Given the description of an element on the screen output the (x, y) to click on. 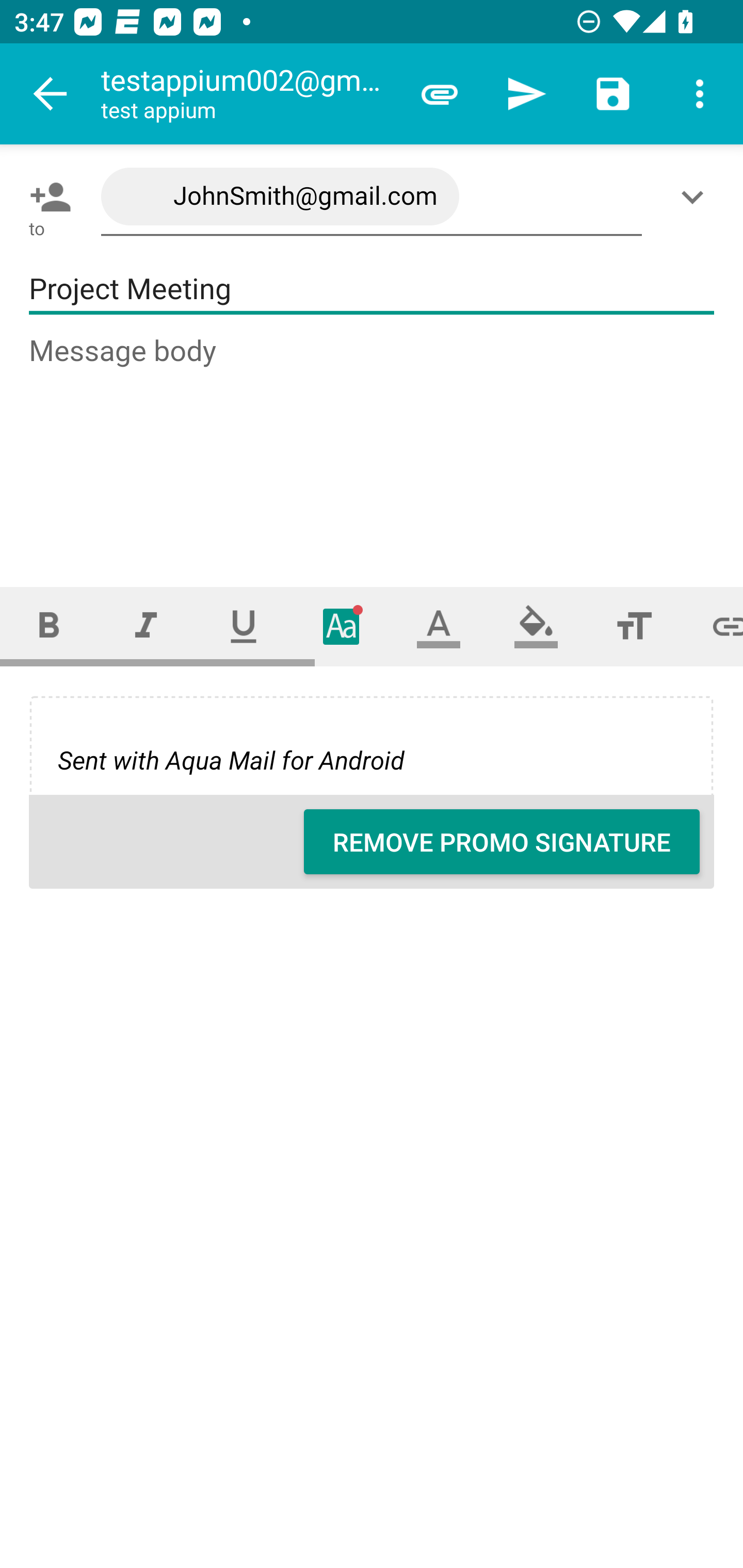
Navigate up (50, 93)
testappium002@gmail.com test appium (248, 93)
Attach (439, 93)
Send (525, 93)
Save (612, 93)
More options (699, 93)
JohnSmith@gmail.com,  (371, 197)
Pick contact: To (46, 196)
Show/Add CC/BCC (696, 196)
Project Meeting (371, 288)
Message body (372, 442)
Bold (48, 626)
Italic (145, 626)
Underline (243, 626)
Typeface (font) (341, 626)
Text color (438, 626)
Fill color (536, 626)
Font size (633, 626)
Set link (712, 626)
REMOVE PROMO SIGNATURE (501, 841)
